Given the description of an element on the screen output the (x, y) to click on. 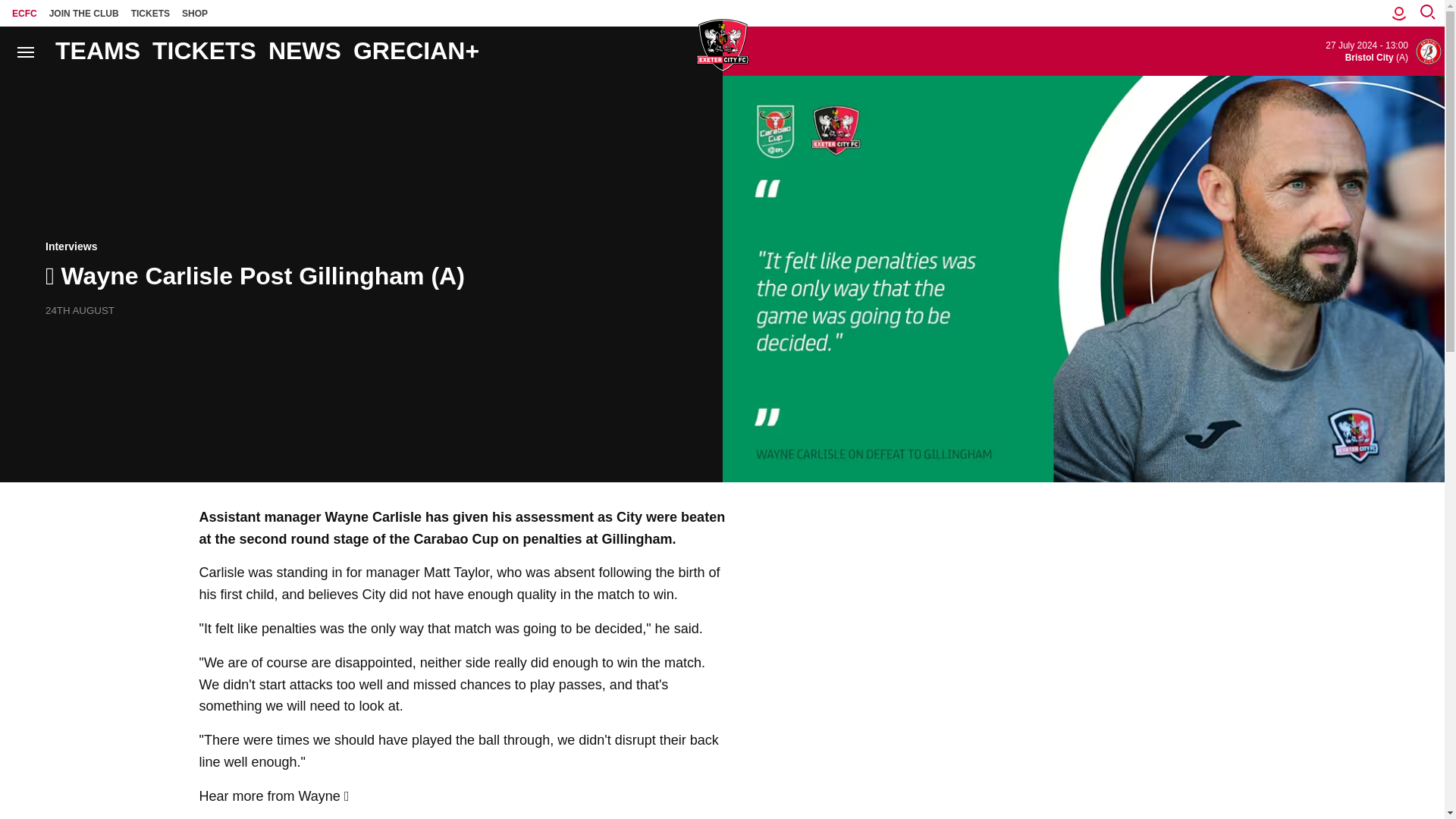
JOIN THE CLUB (84, 13)
ECFC (24, 13)
TICKETS (150, 13)
SHOP (195, 13)
